Given the description of an element on the screen output the (x, y) to click on. 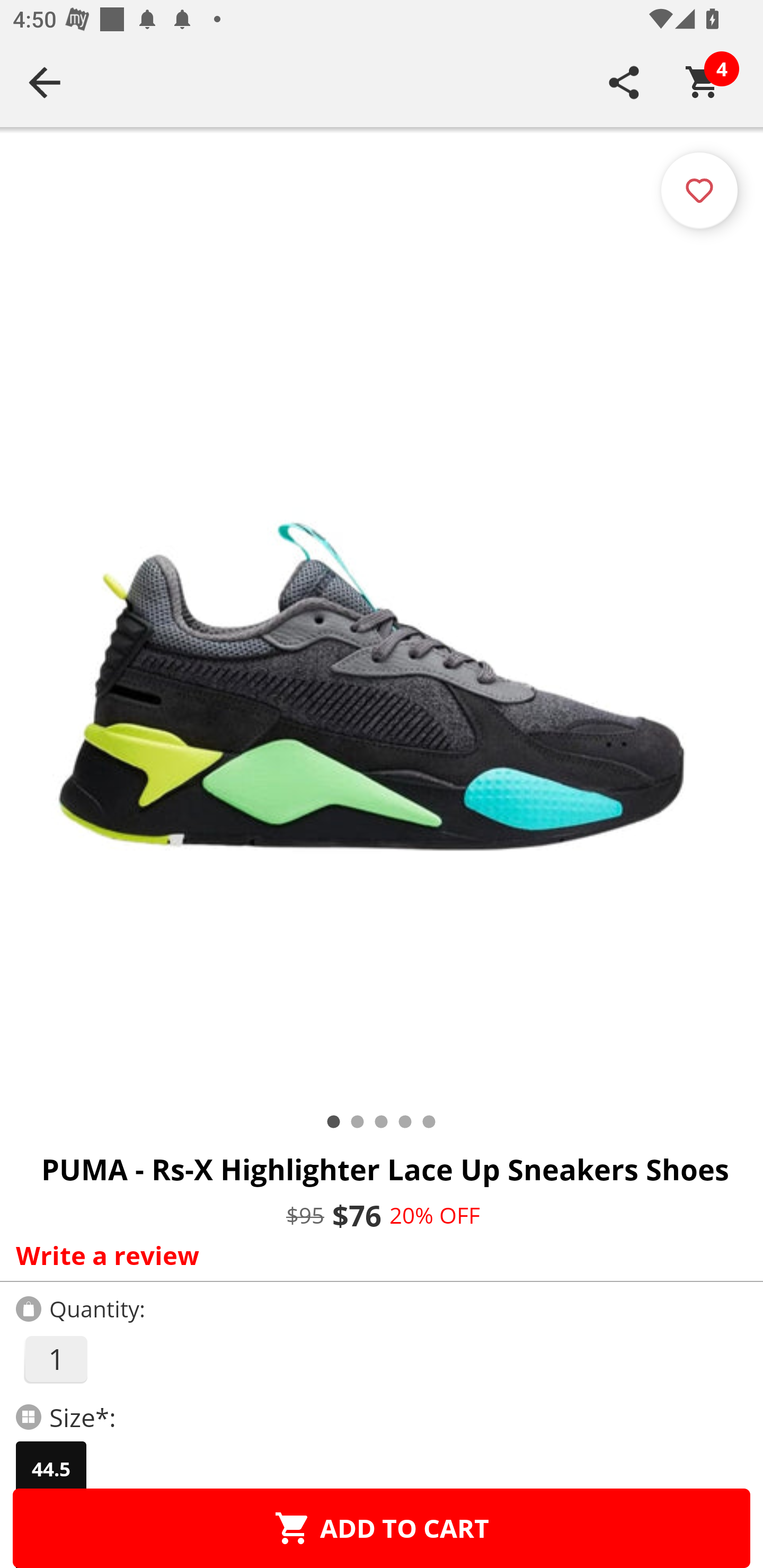
Navigate up (44, 82)
SHARE (623, 82)
Cart (703, 81)
Write a review (377, 1255)
1 (55, 1358)
44.5 (51, 1468)
ADD TO CART (381, 1528)
